Given the description of an element on the screen output the (x, y) to click on. 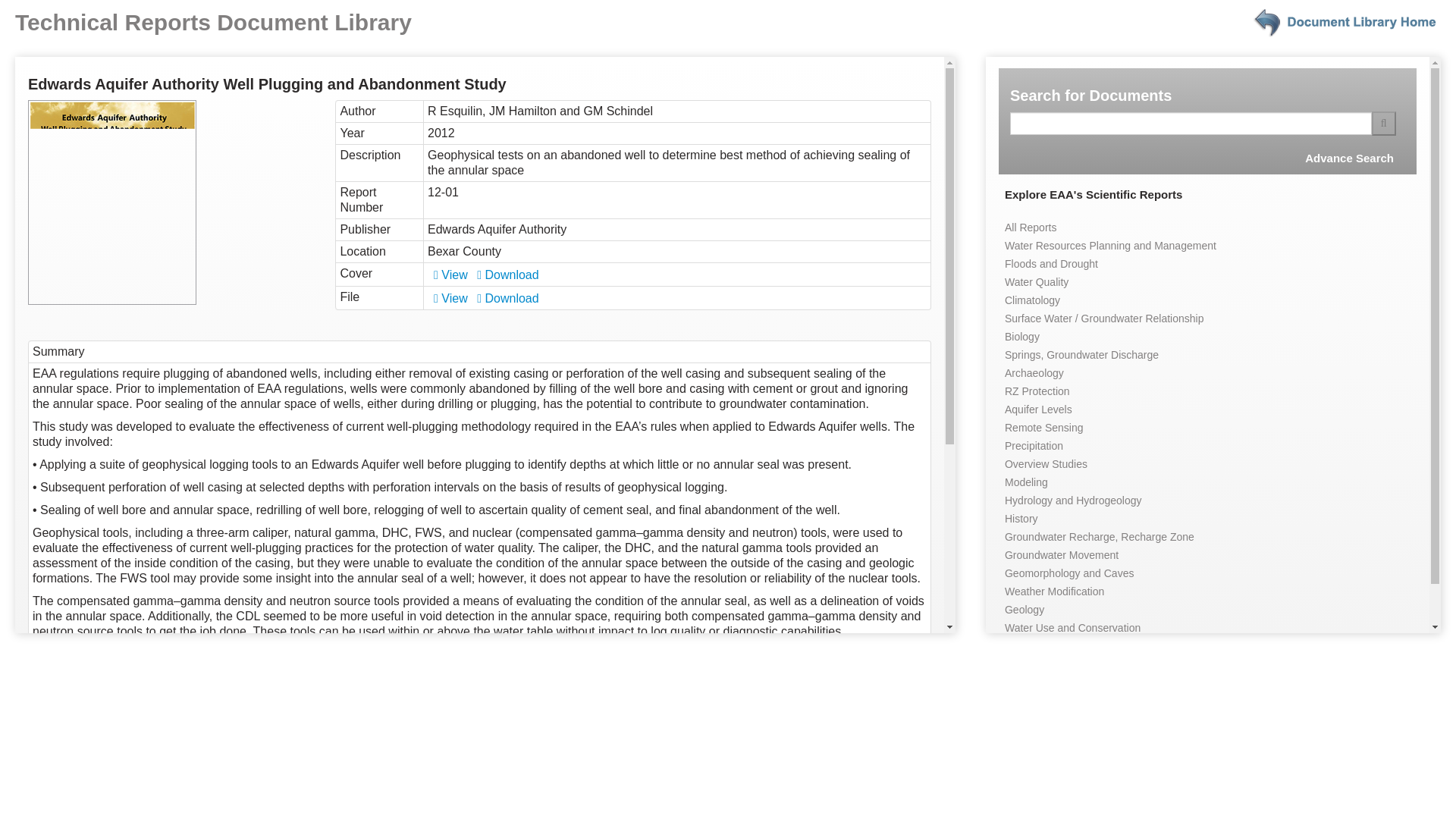
Archaeology (1034, 372)
Springs, Groundwater Discharge (1081, 354)
Overview Studies (1045, 463)
Hydrology and Hydrogeology (1072, 500)
Biology (1021, 336)
Geology (1023, 609)
Download (507, 297)
History (1021, 518)
Groundwater Recharge, Recharge Zone (1098, 536)
Precipitation (1033, 445)
Geochemistry (1037, 645)
Water Use and Conservation (1072, 627)
Floods and Drought (1050, 263)
All Reports (1030, 227)
Aquifer Levels (1037, 409)
